Given the description of an element on the screen output the (x, y) to click on. 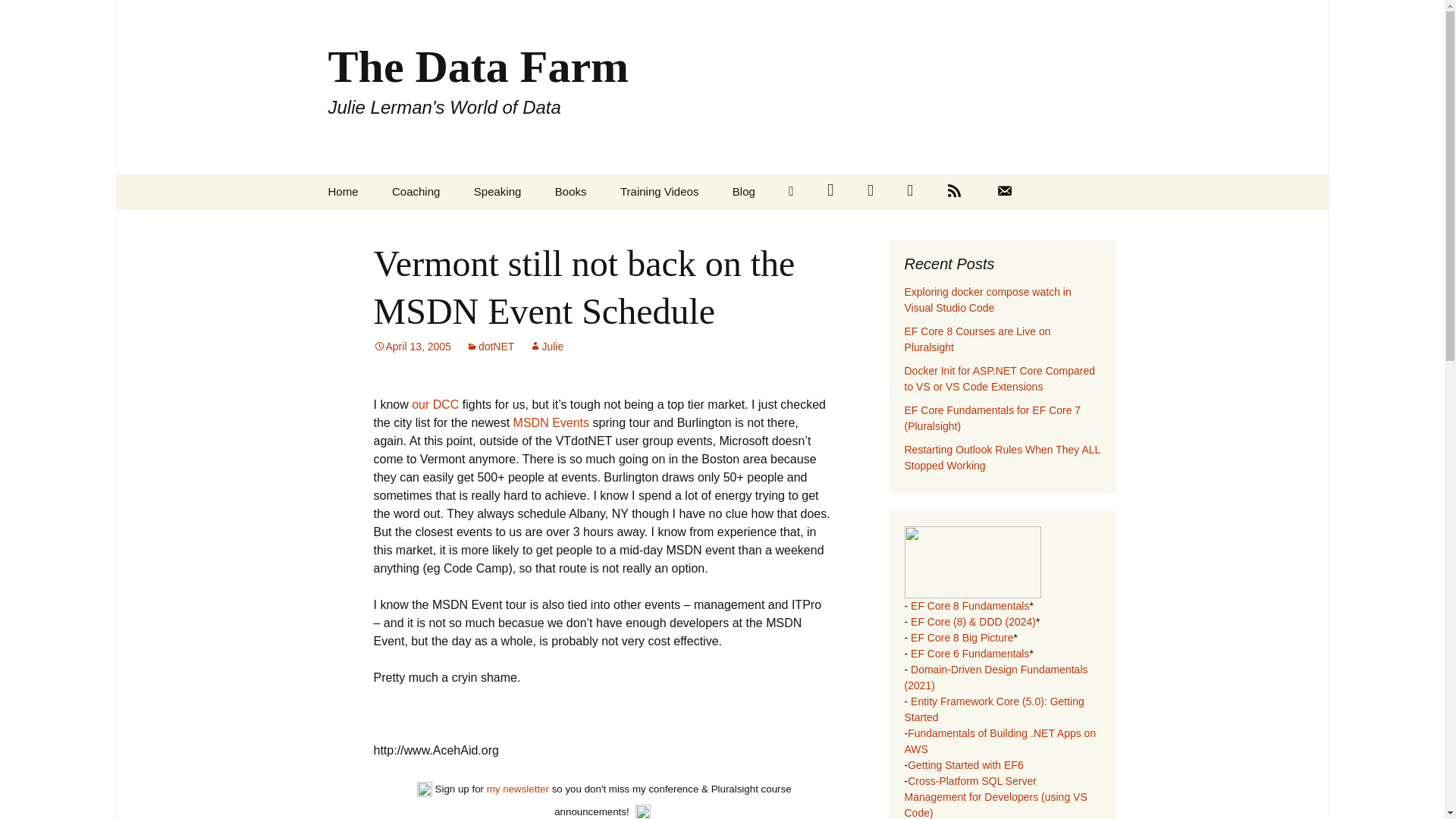
Blog (743, 191)
April 13, 2005 (410, 346)
Twitter (830, 191)
my newsletter (517, 788)
our DCC (869, 191)
MSDN Events (435, 404)
Coaching (551, 422)
LinkedIn (415, 191)
Exploring docker compose watch in Visual Studio Code (791, 191)
Speaking (987, 299)
Books (497, 191)
dotNET (571, 191)
Contact (489, 346)
